Given the description of an element on the screen output the (x, y) to click on. 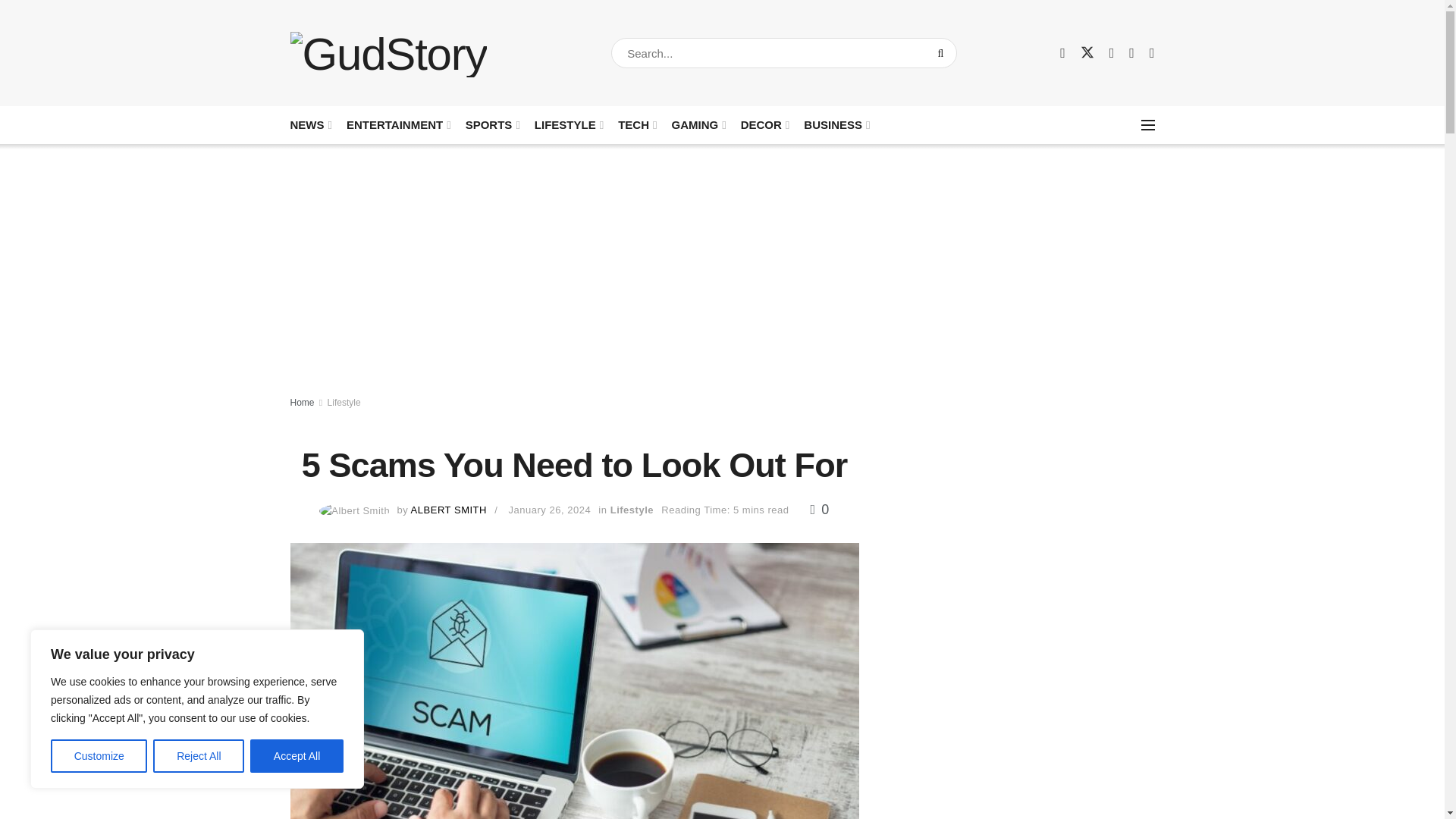
Customize (98, 756)
Advertisement (1023, 508)
Advertisement (1023, 731)
NEWS (309, 124)
Accept All (296, 756)
Reject All (198, 756)
